Given the description of an element on the screen output the (x, y) to click on. 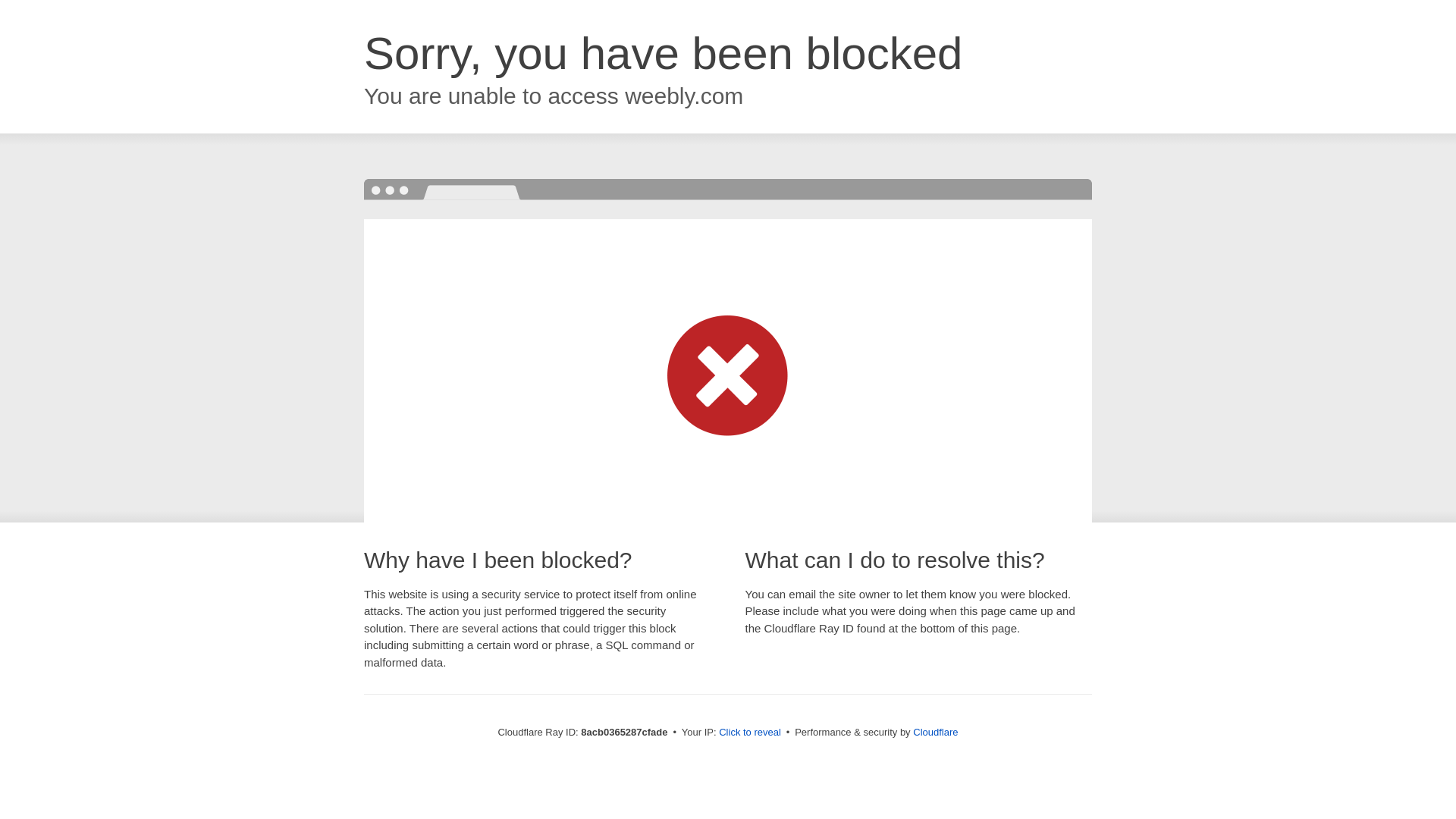
Cloudflare (935, 731)
Click to reveal (749, 732)
